Given the description of an element on the screen output the (x, y) to click on. 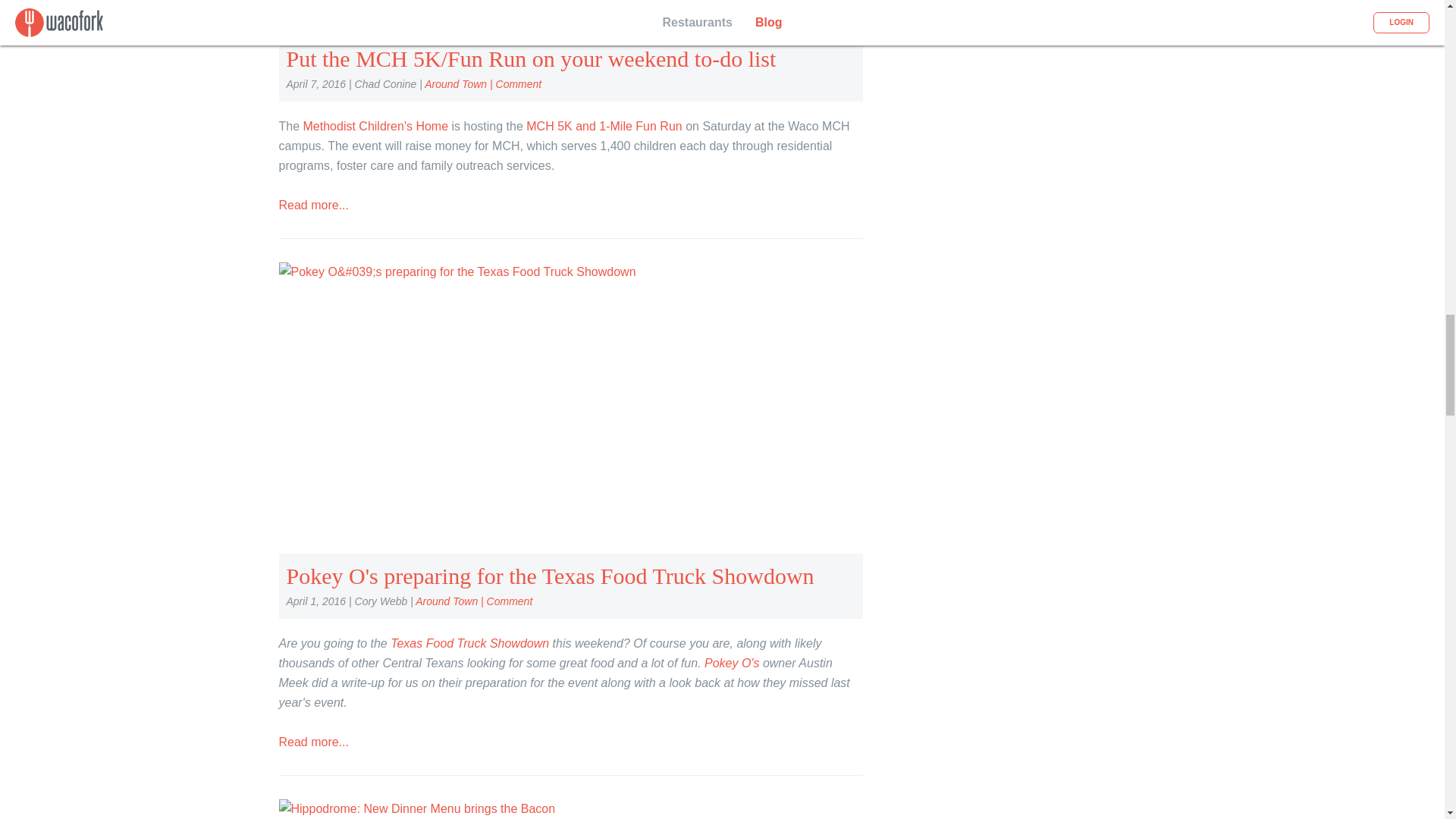
Pokey O's preparing for the Texas Food Truck Showdown (549, 575)
Read more... (314, 741)
Texas Food Truck Showdown (469, 643)
Comment (509, 601)
Pokey O's (731, 662)
Comment (518, 83)
Hippodrome: New Dinner Menu brings the Bacon (417, 807)
MCH 5K and 1-Mile Fun Run (603, 125)
Methodist Children's Home (375, 125)
Read more... (314, 205)
